Given the description of an element on the screen output the (x, y) to click on. 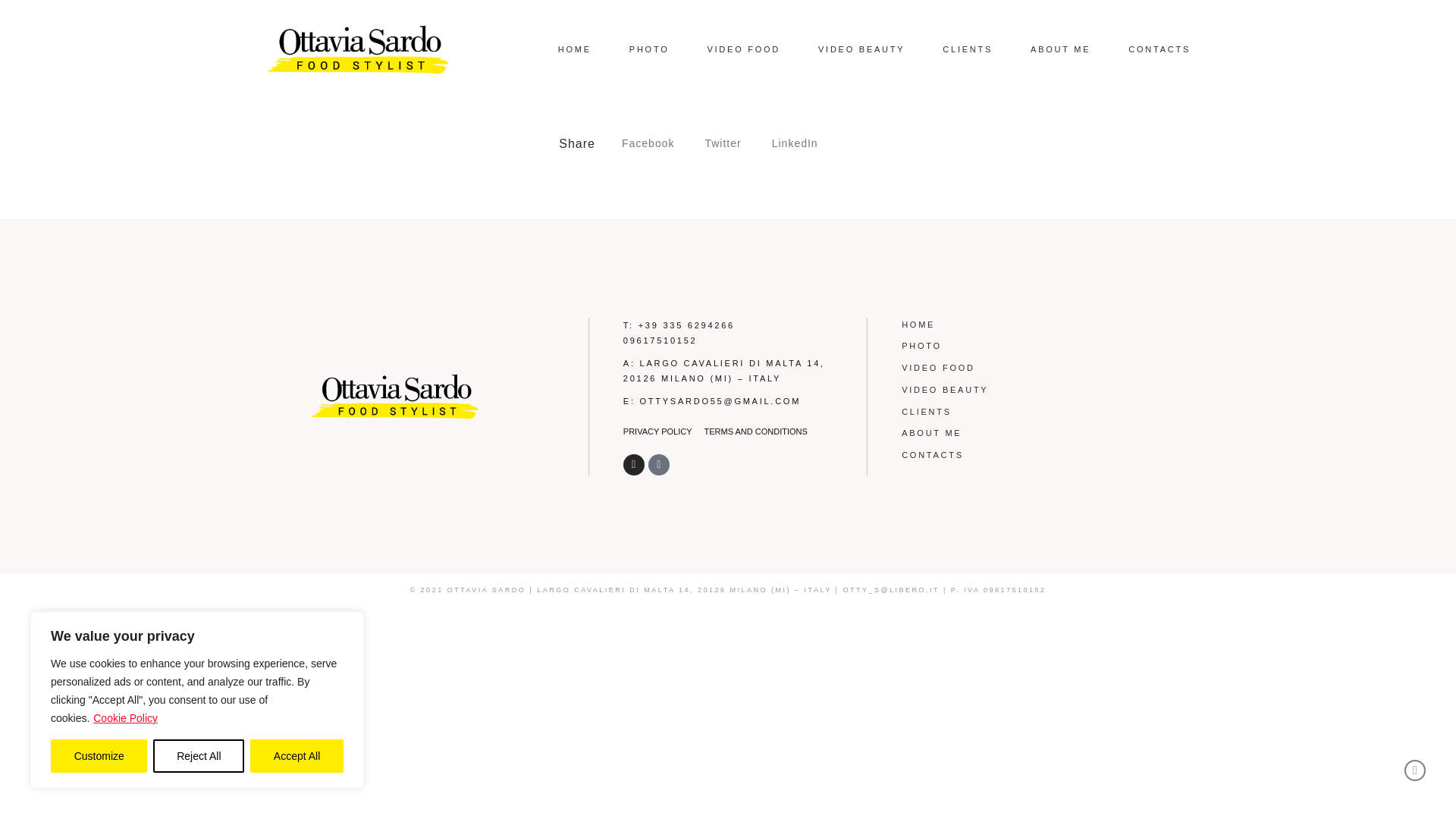
PHOTO (1024, 345)
Reject All (198, 756)
TERMS AND CONDITIONS (756, 431)
CONTACTS (1159, 49)
HOME (574, 49)
HOME (1024, 324)
PRIVACY POLICY (658, 431)
VIDEO BEAUTY (861, 49)
VIDEO FOOD (743, 49)
Vimeo-square (658, 464)
Customize (98, 756)
ABOUT ME (1060, 49)
Accept All (296, 756)
VIDEO FOOD (1024, 368)
Cookie Policy (125, 717)
